Given the description of an element on the screen output the (x, y) to click on. 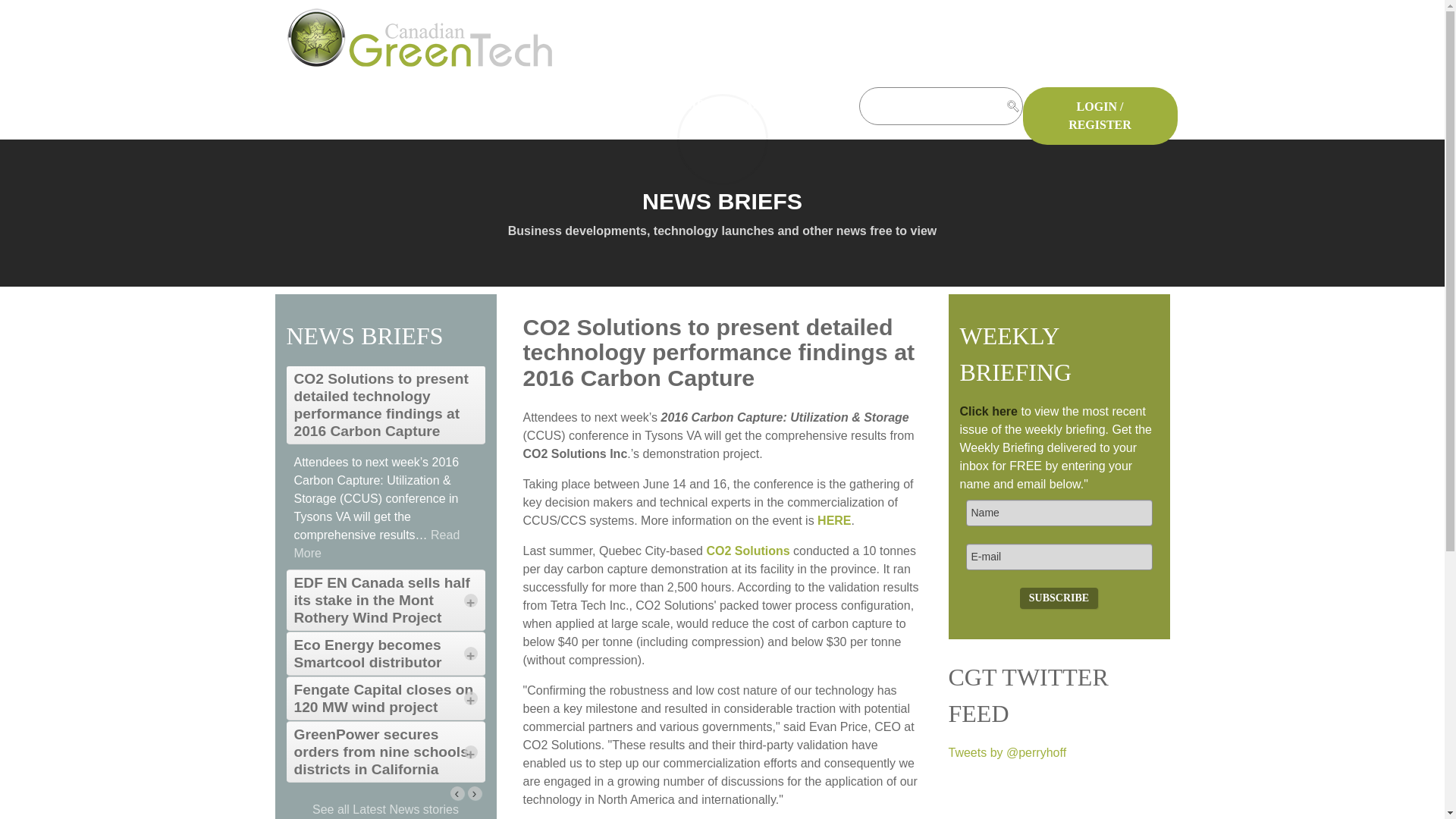
Name (1059, 512)
E-mail (1059, 556)
Read More (377, 543)
Name (1059, 512)
ABOUT CGT (317, 126)
HOME (292, 104)
POLITICS (453, 104)
Subscribe (1058, 598)
E-mail (1059, 556)
TECHNOLOGY (550, 104)
NEWS BRIEFS (367, 104)
ARCHIVES (784, 104)
MEMBERSHIPS (674, 104)
